Given the description of an element on the screen output the (x, y) to click on. 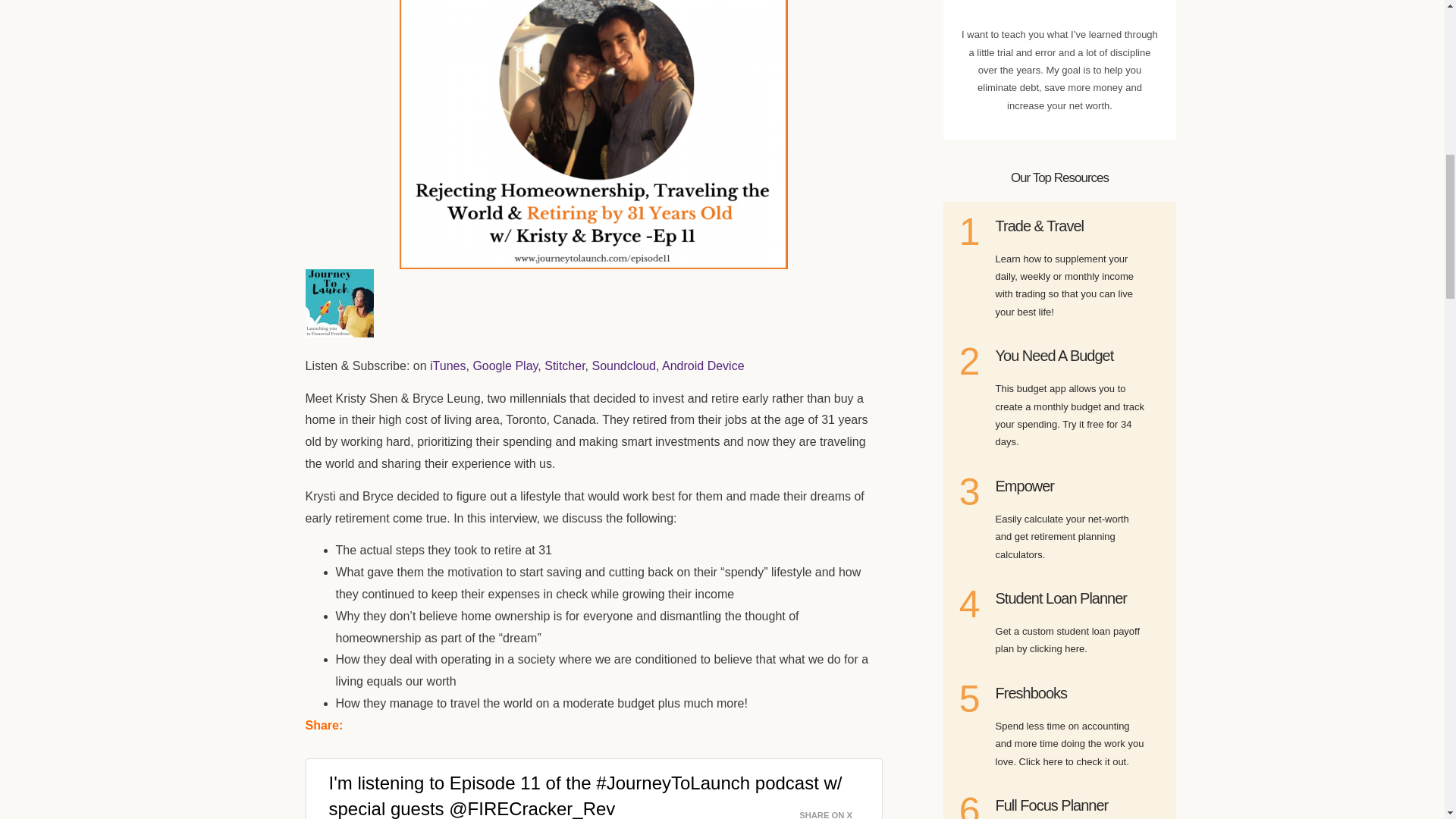
iTunes (447, 365)
Soundcloud, (625, 365)
Google Play (504, 365)
Android Device (703, 365)
SHARE ON X (834, 807)
Stitcher (564, 365)
